Given the description of an element on the screen output the (x, y) to click on. 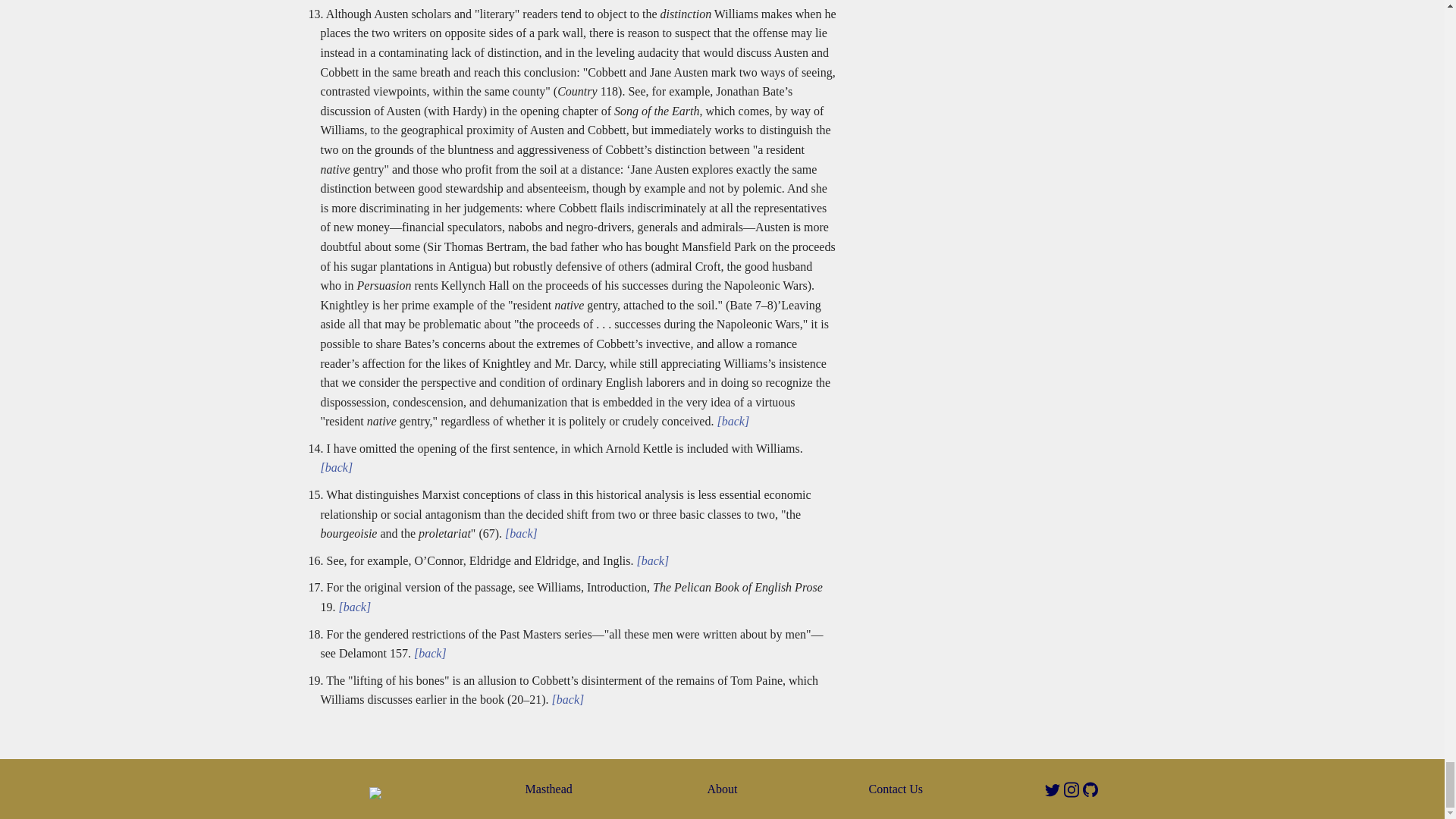
Go back to text (731, 420)
Go back to text (336, 467)
Go back to text (428, 653)
Go back to text (519, 533)
Go back to text (352, 606)
Go back to text (566, 698)
Go back to text (651, 560)
